Given the description of an element on the screen output the (x, y) to click on. 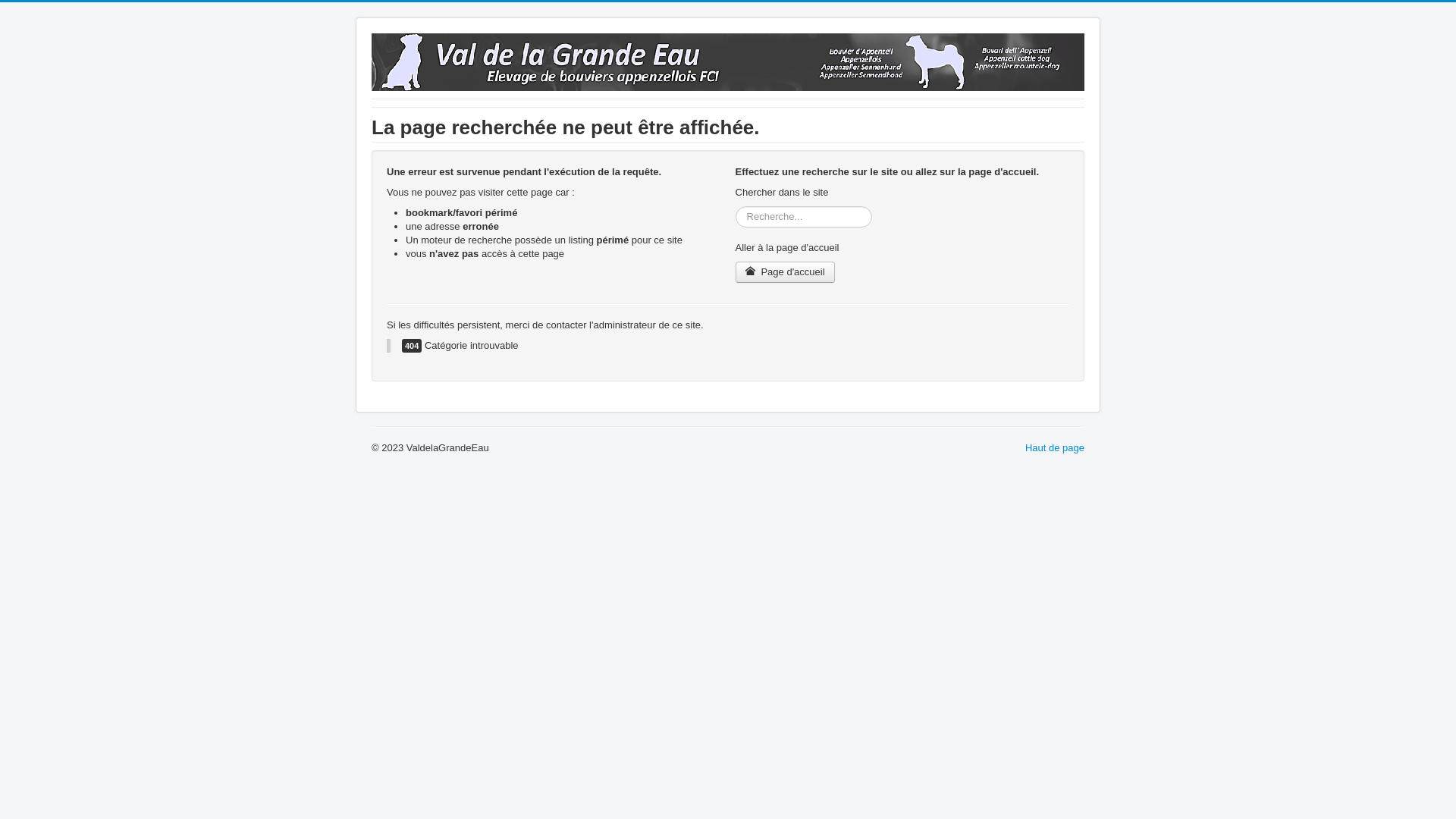
Page d'accueil Element type: text (784, 271)
Haut de page Element type: text (1054, 447)
